Given the description of an element on the screen output the (x, y) to click on. 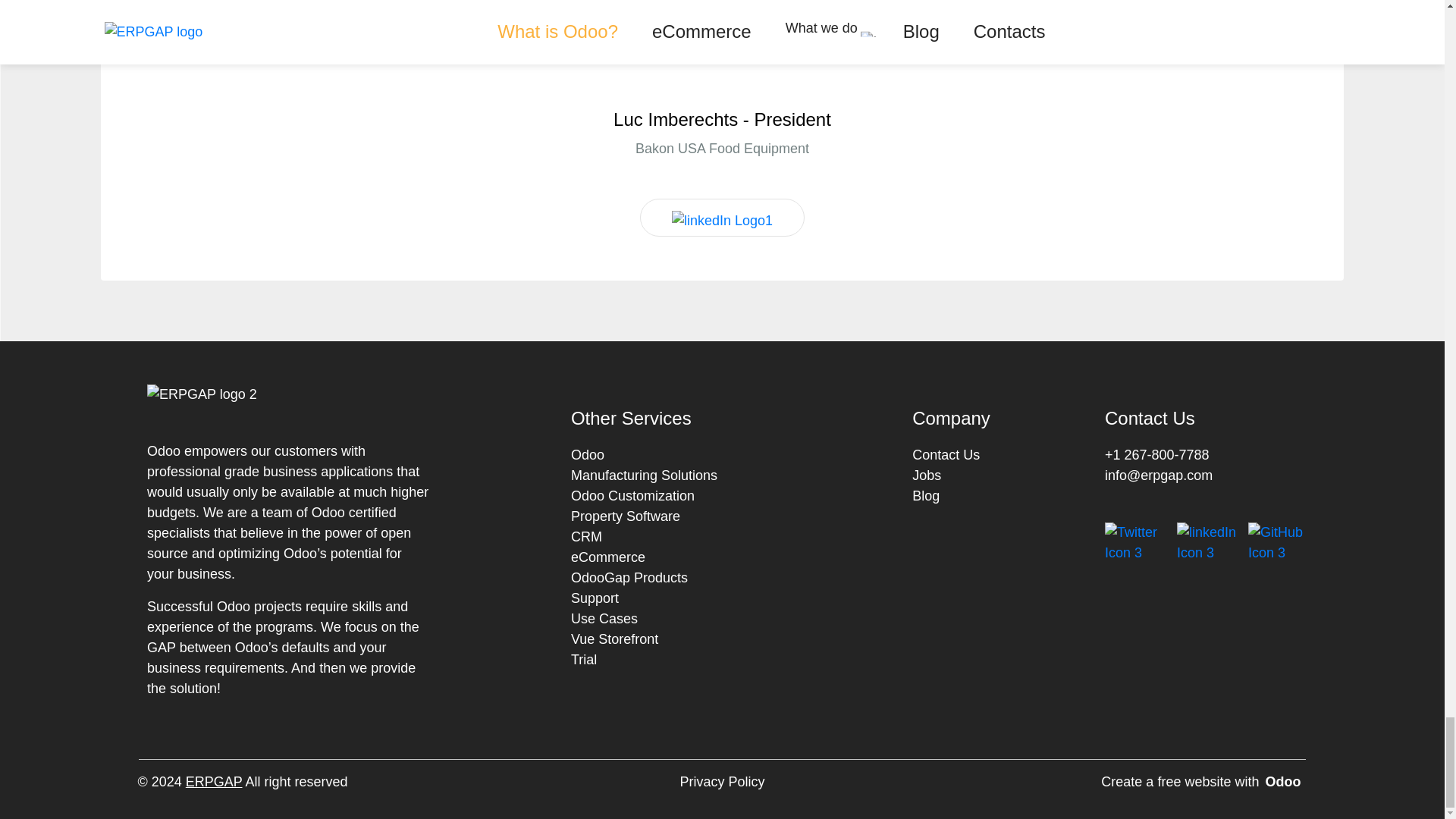
Property Software (624, 516)
Support (594, 598)
Use Cases (603, 618)
eCommerce (607, 557)
OdooGap Products (628, 577)
CRM (586, 536)
Odoo Customization (632, 495)
Manufacturing Solutions (643, 475)
Odoo (587, 454)
Checkout the privacy policy page (721, 782)
